Given the description of an element on the screen output the (x, y) to click on. 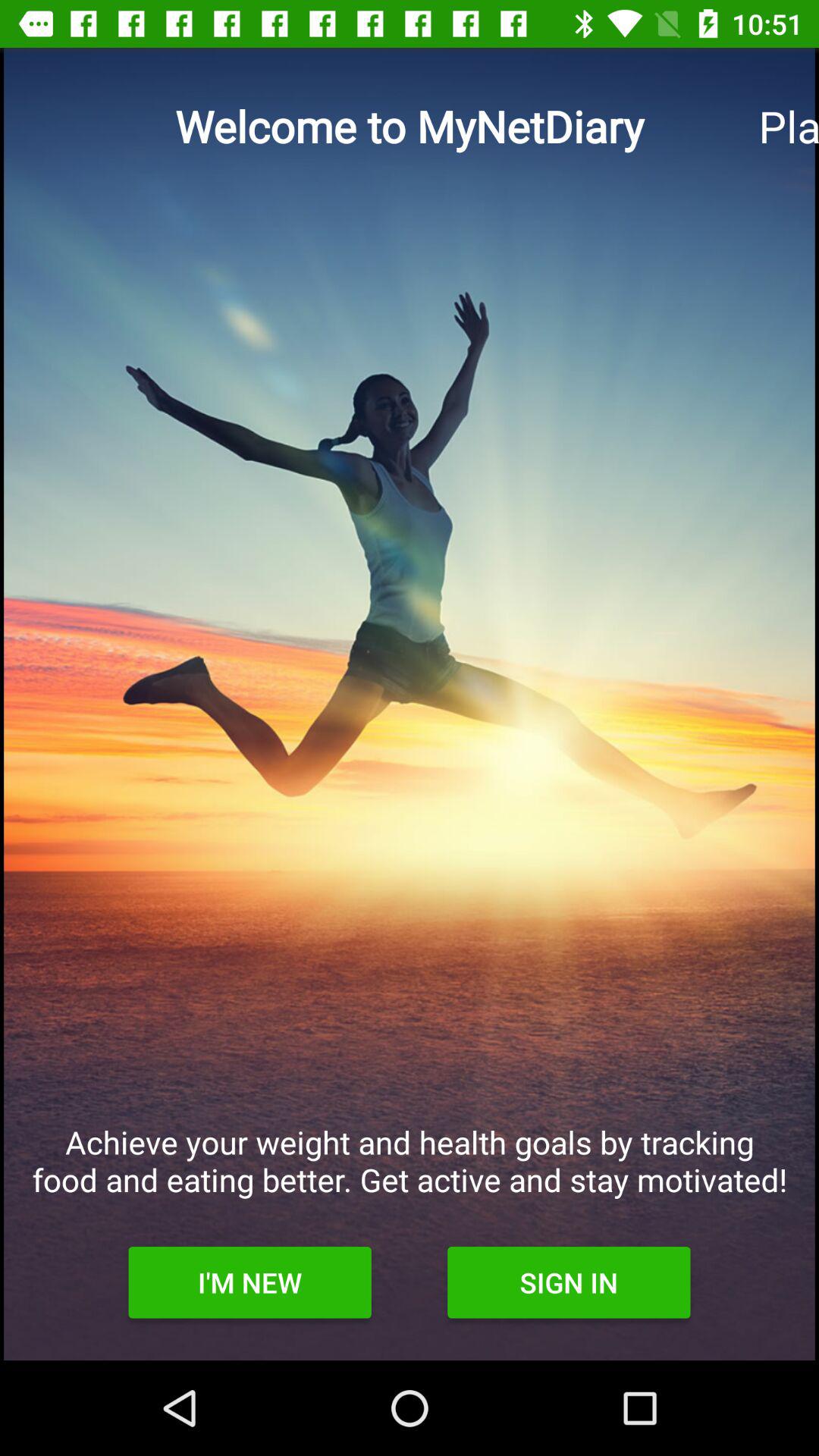
open icon below the achieve your weight (249, 1282)
